Given the description of an element on the screen output the (x, y) to click on. 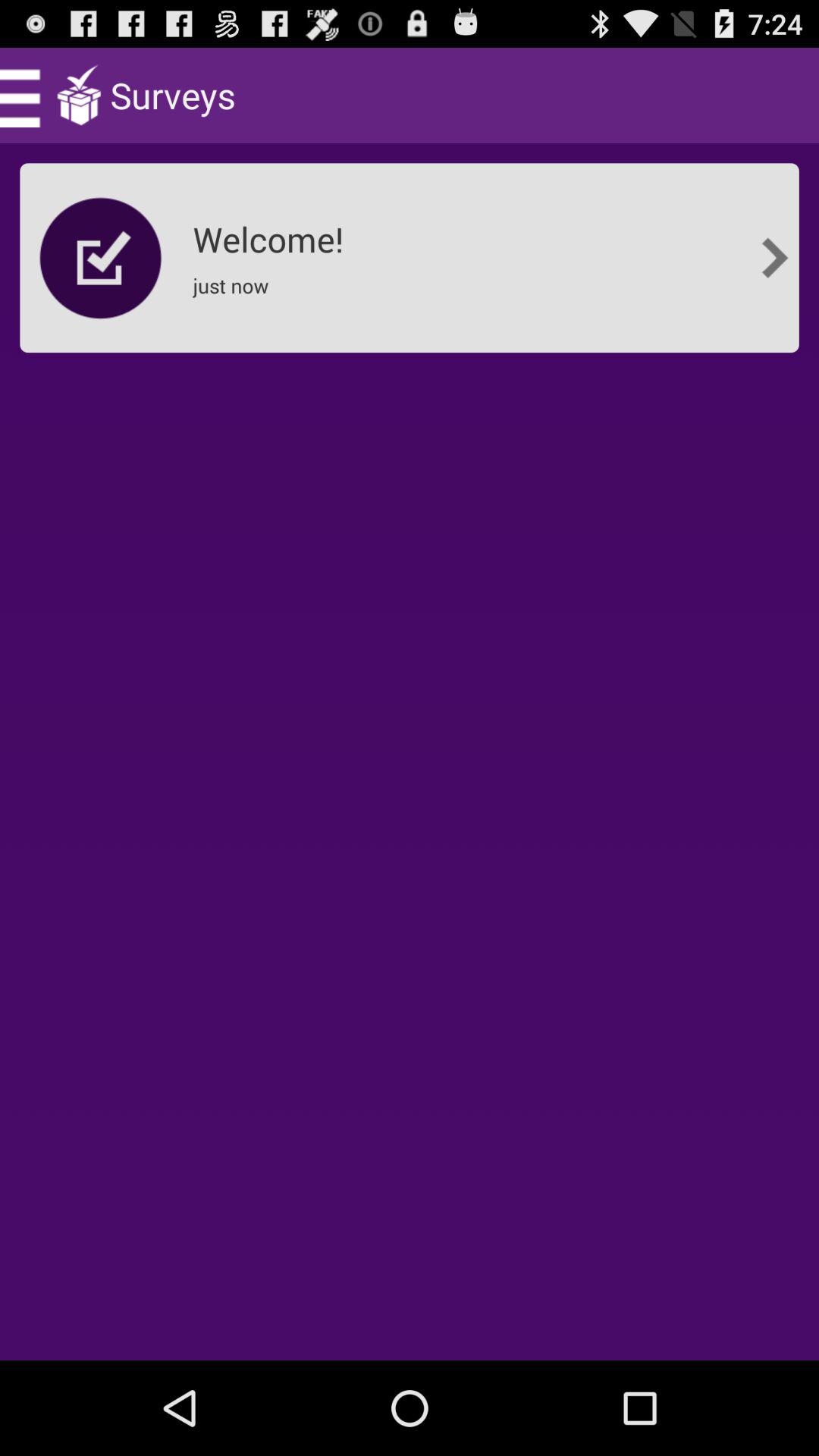
turn off item below the welcome! item (235, 295)
